Given the description of an element on the screen output the (x, y) to click on. 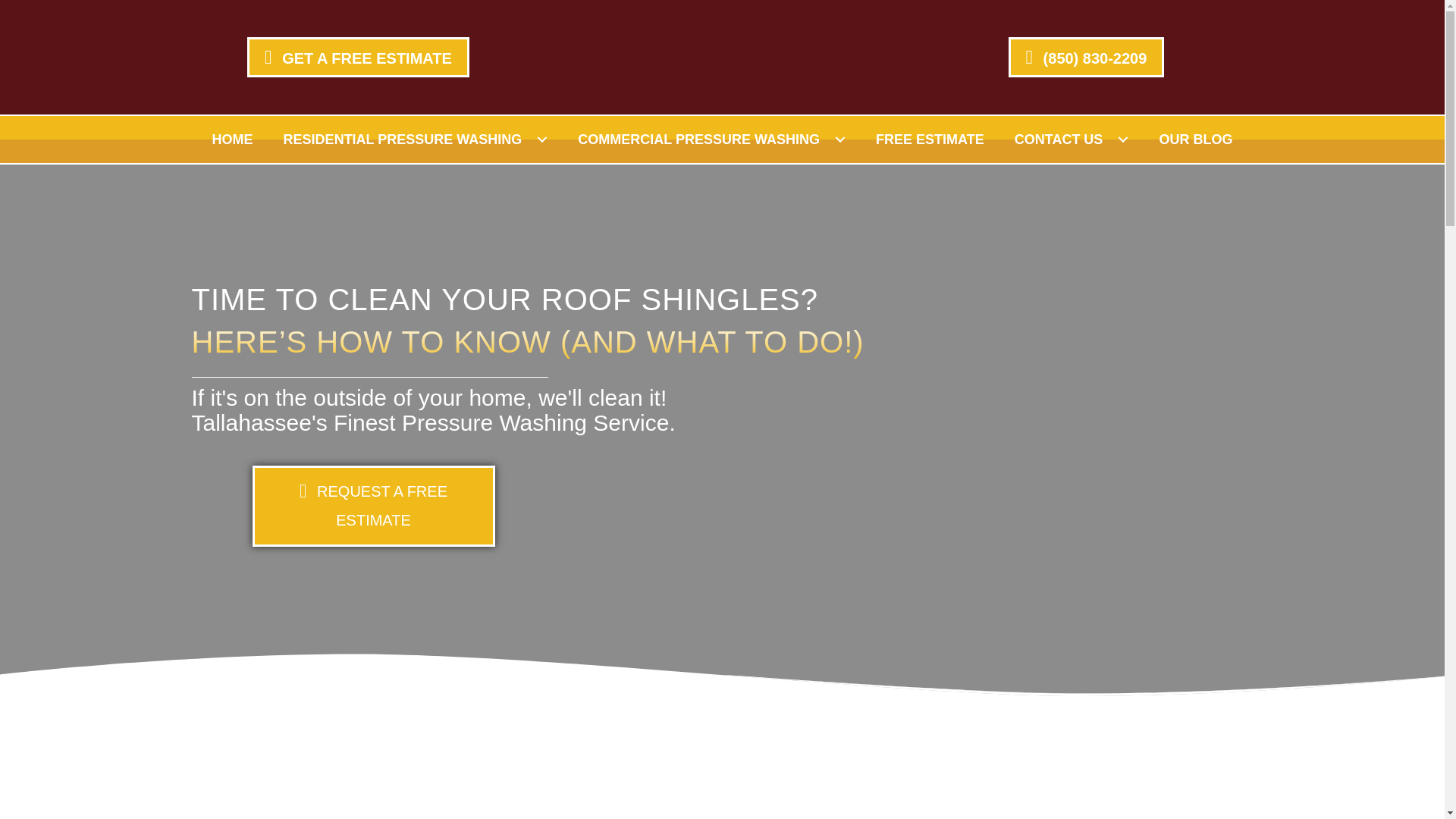
CONTACT US (1071, 139)
GET A FREE ESTIMATE (534, 56)
COMMERCIAL PRESSURE WASHING (711, 139)
HOME (231, 139)
OUR BLOG (1194, 139)
REQUEST A FREE ESTIMATE (373, 506)
FREE ESTIMATE (929, 139)
RESIDENTIAL PRESSURE WASHING (415, 139)
